Given the description of an element on the screen output the (x, y) to click on. 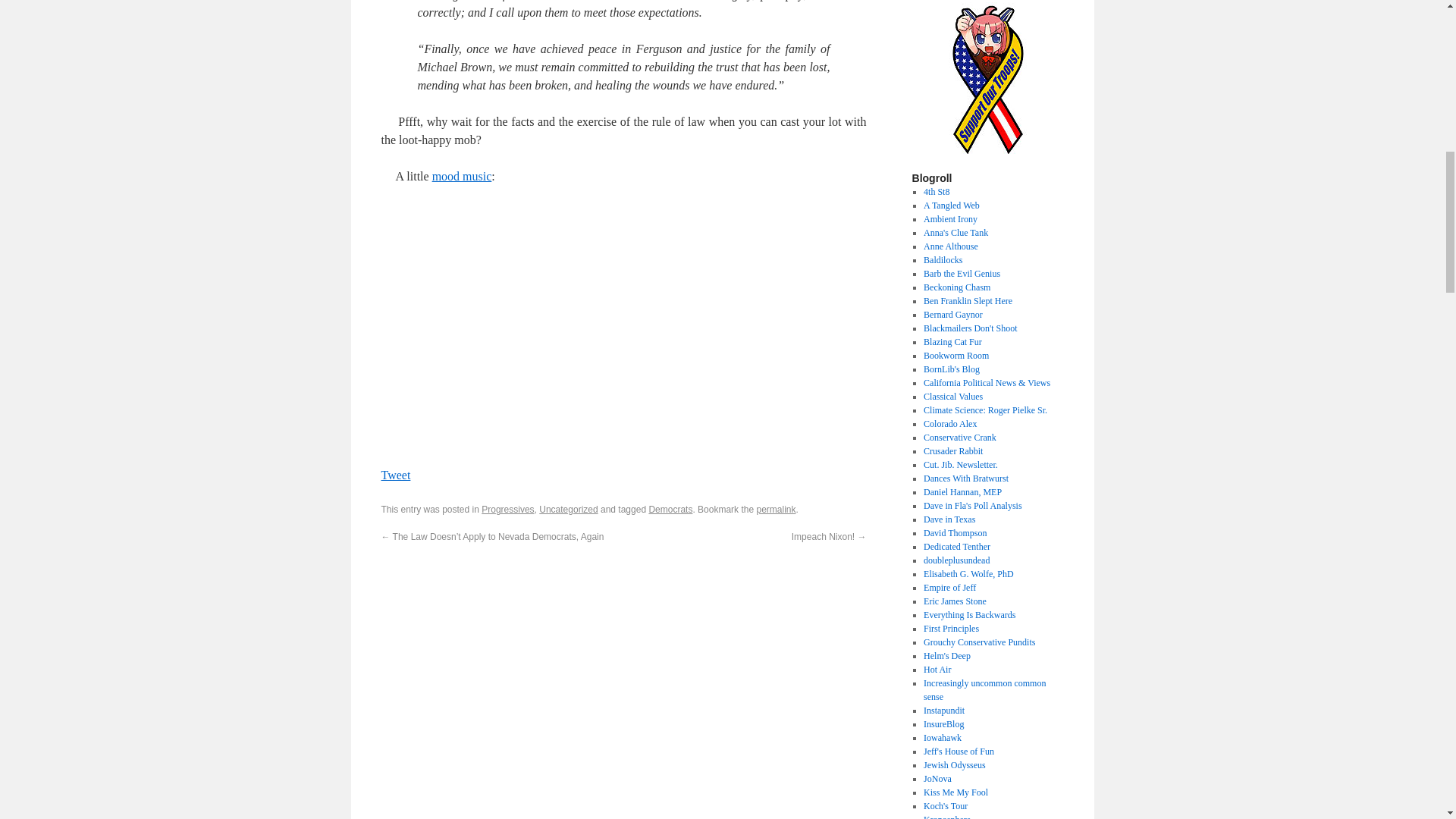
Permalink to Missouri Governor Nixon Surrenders to the Mob (774, 509)
Democrats (670, 509)
Anne Althouse (950, 245)
Ambient Irony (949, 218)
Anna's Clue Tank (955, 232)
Anne Althouse (950, 245)
Member of the Funny Name Club (942, 259)
4th St8 (936, 191)
permalink (774, 509)
A Tangled Web (951, 204)
mood music (462, 175)
Progressives (507, 509)
Tweet (395, 474)
